Given the description of an element on the screen output the (x, y) to click on. 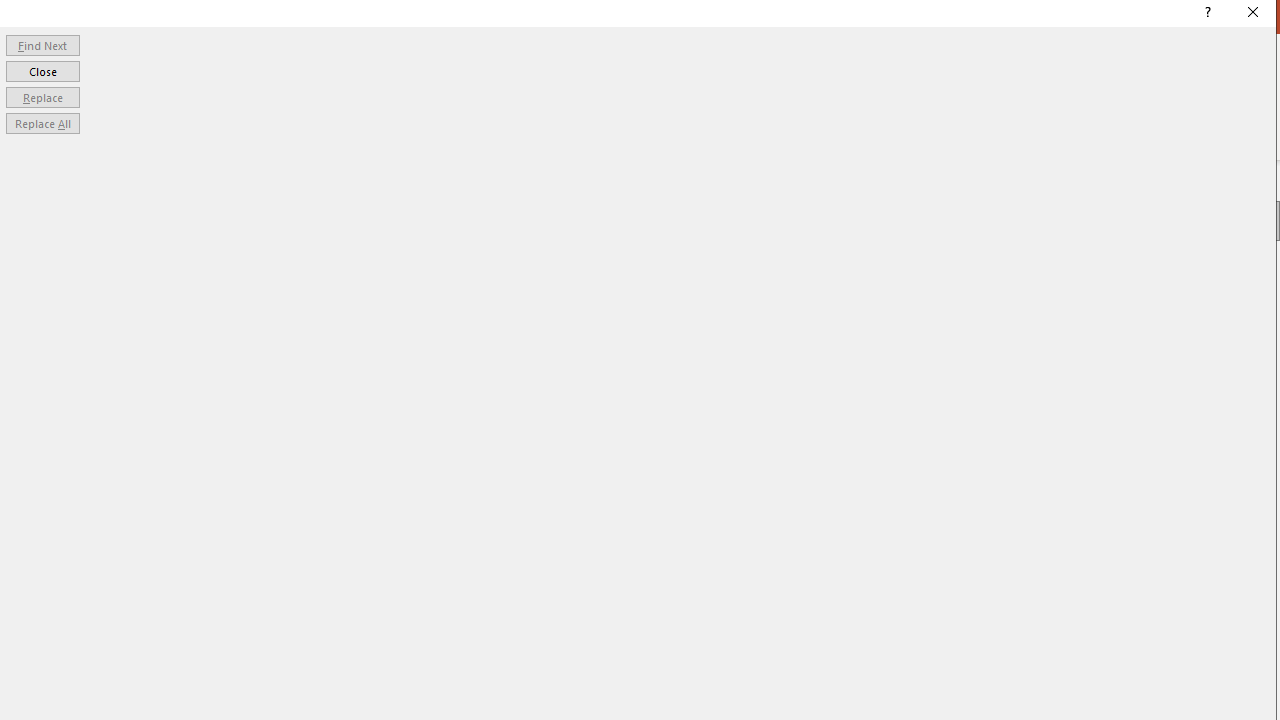
Find Next (42, 44)
Replace All (42, 123)
Replace (42, 96)
